Given the description of an element on the screen output the (x, y) to click on. 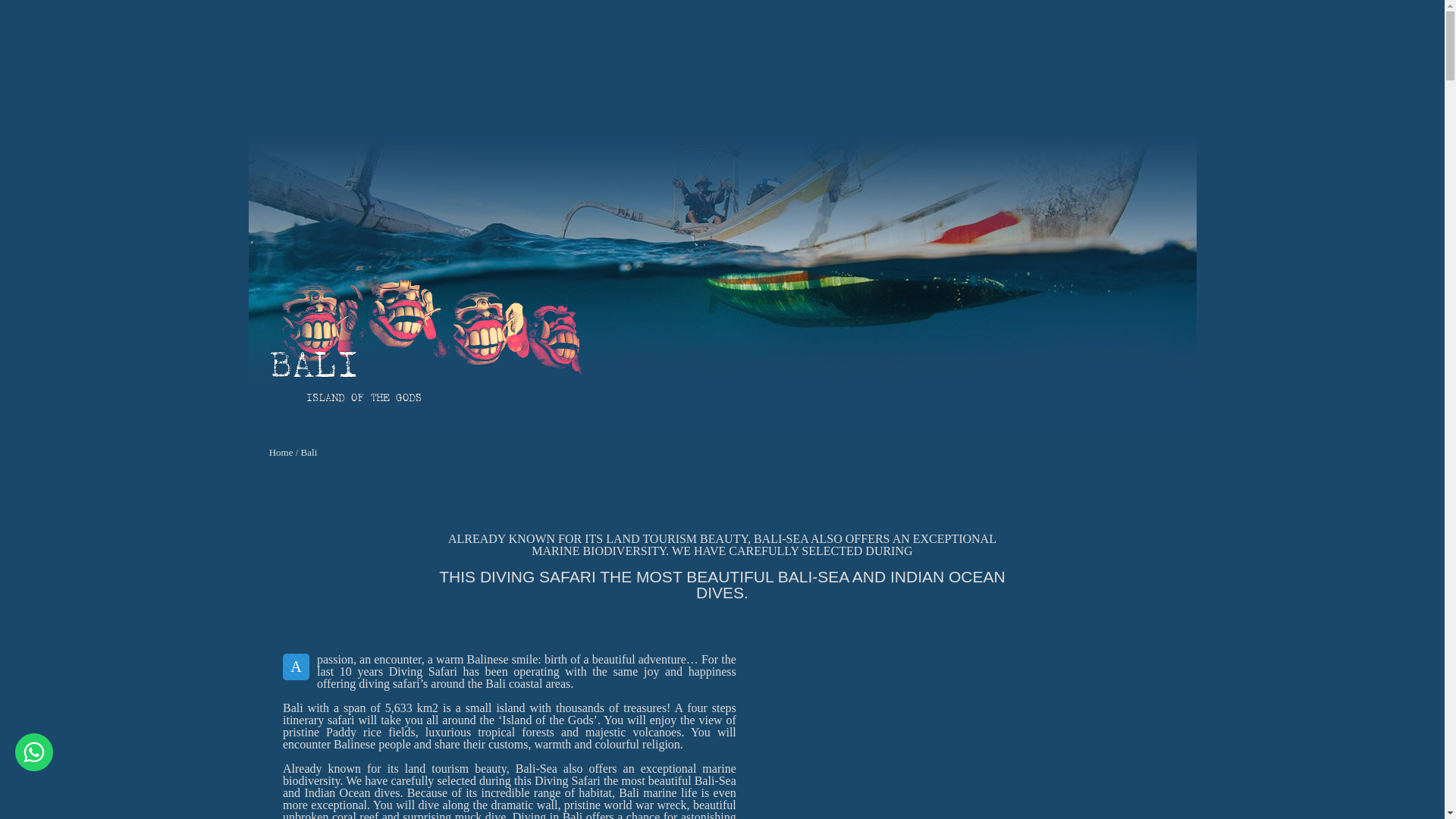
Home (281, 451)
